Given the description of an element on the screen output the (x, y) to click on. 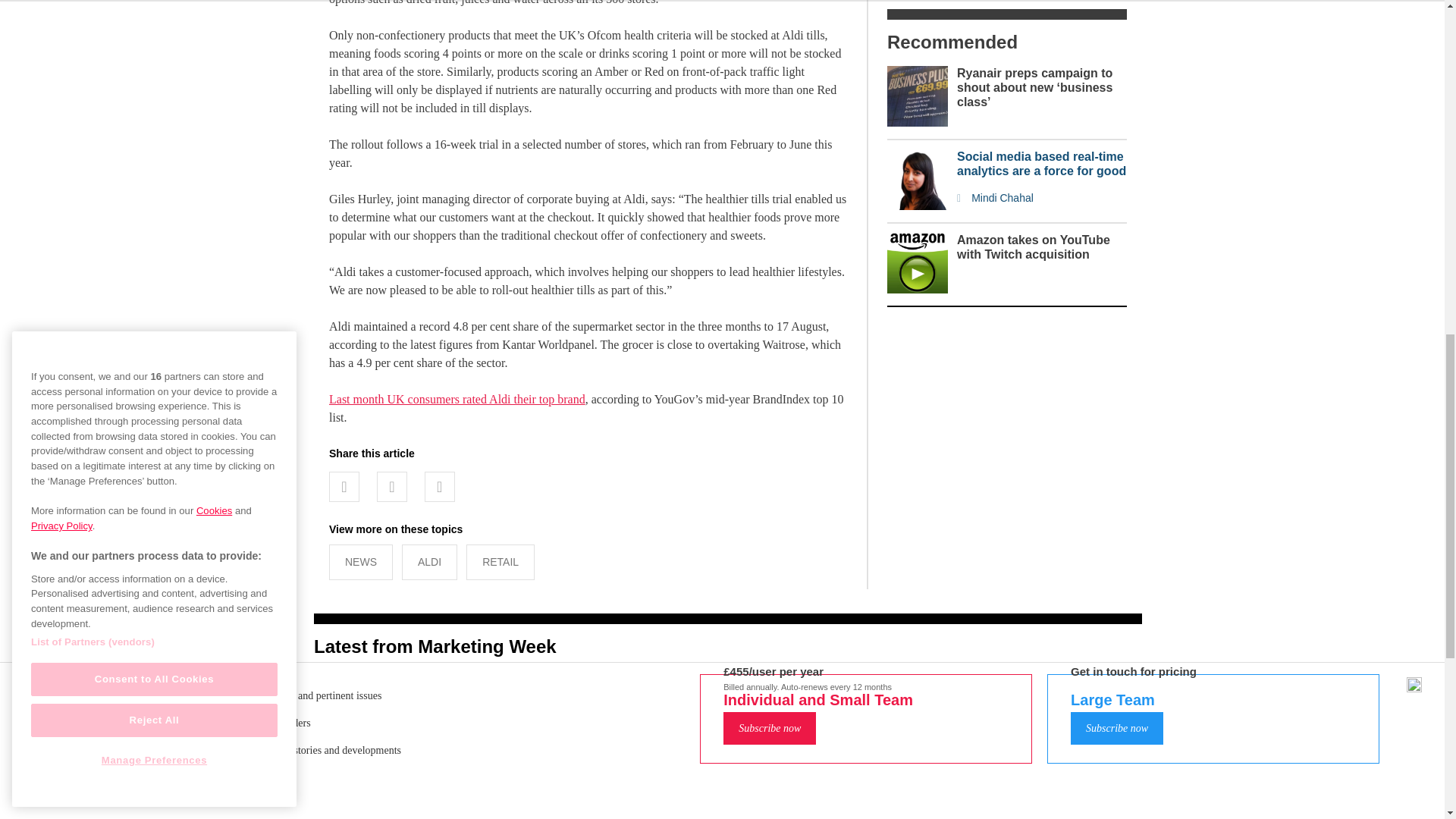
Latest from Marketing Week (435, 646)
Last month UK consumers rated Aldi their top brand (457, 399)
ALDI (429, 561)
RETAIL (499, 561)
NEWS (361, 561)
